Given the description of an element on the screen output the (x, y) to click on. 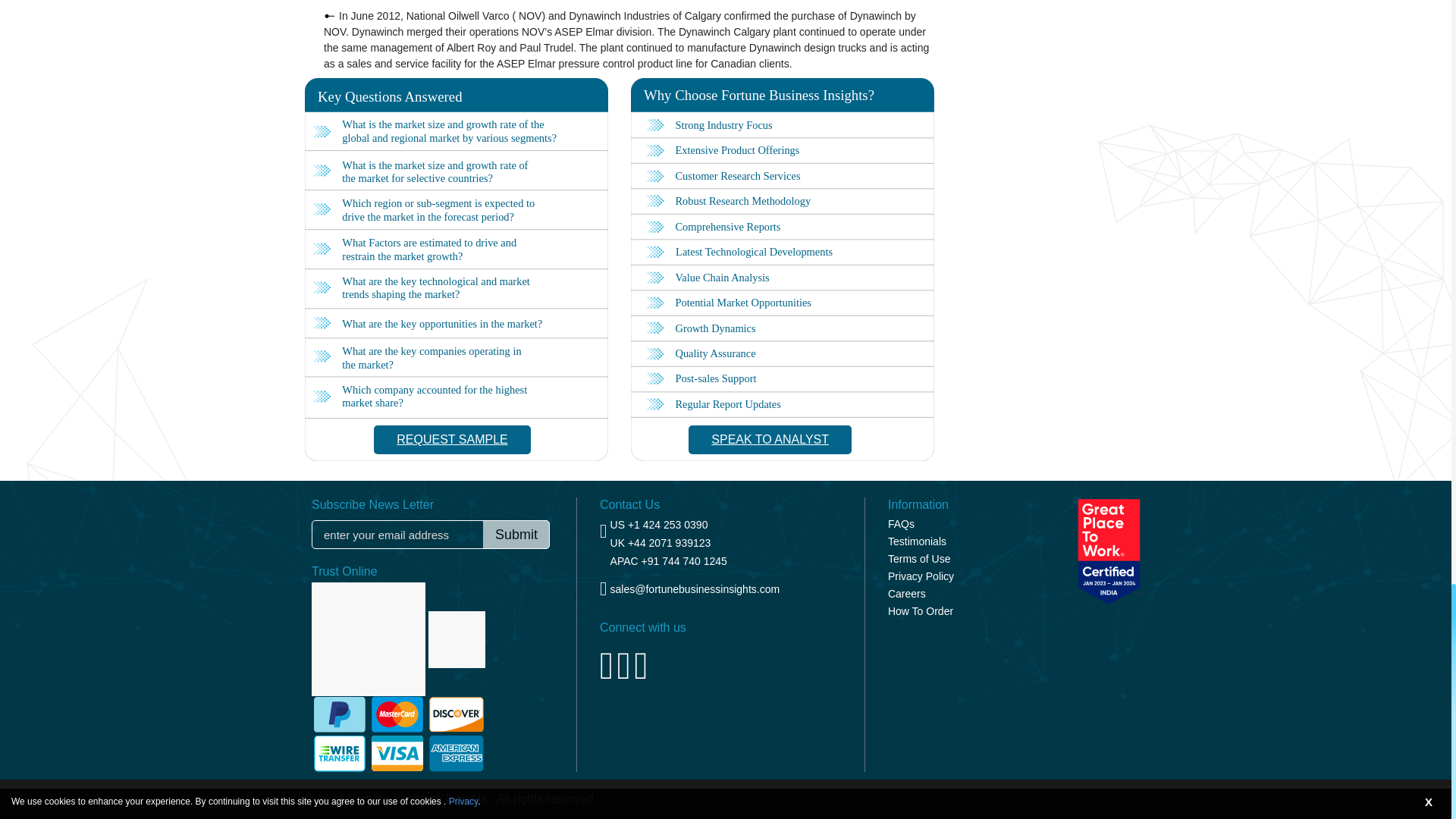
DMCA.com Protection Status (369, 638)
